Given the description of an element on the screen output the (x, y) to click on. 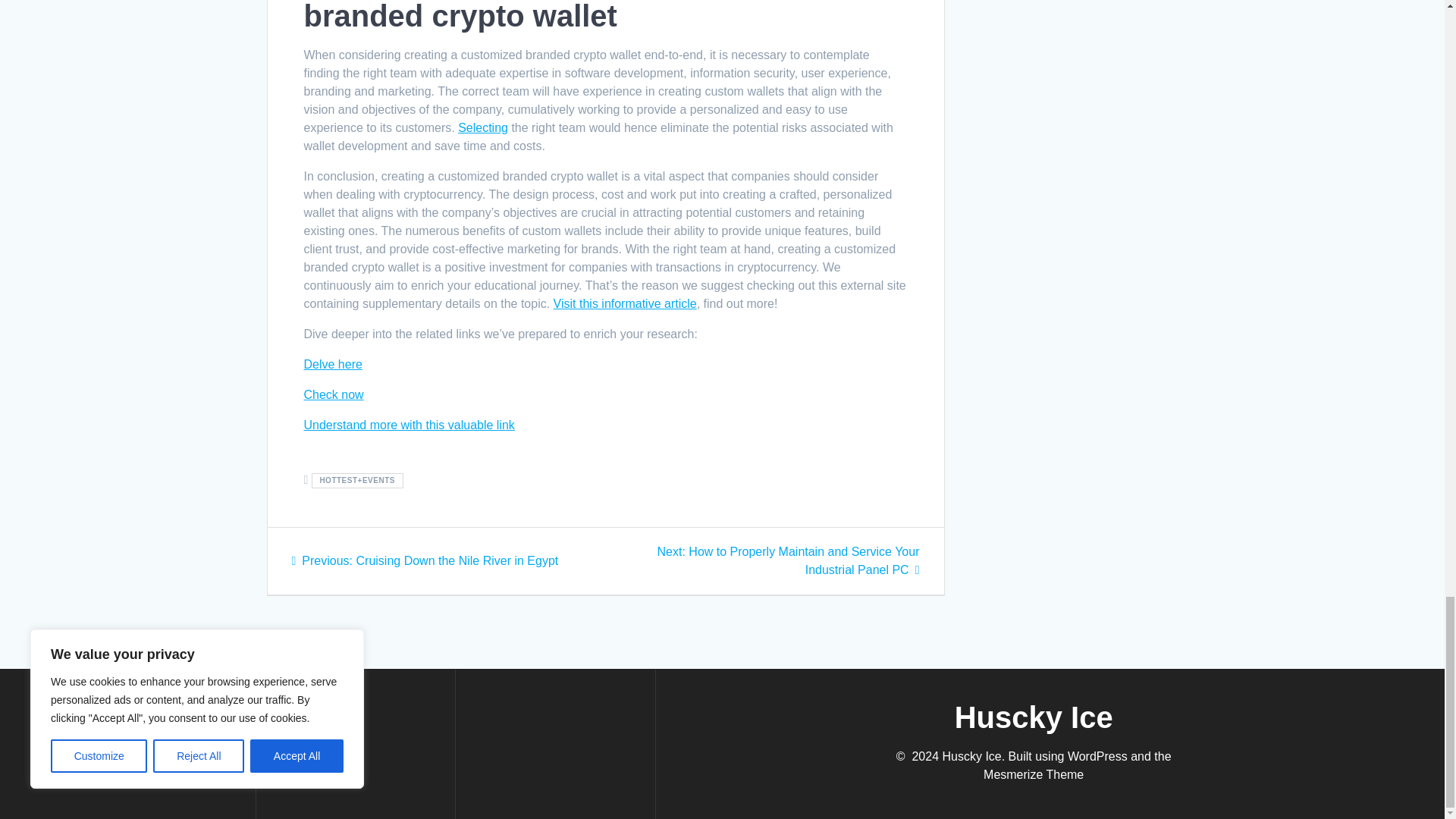
Understand more with this valuable link (407, 424)
Visit this informative article (625, 303)
Delve here (331, 364)
Selecting (483, 127)
Check now (332, 394)
